Given the description of an element on the screen output the (x, y) to click on. 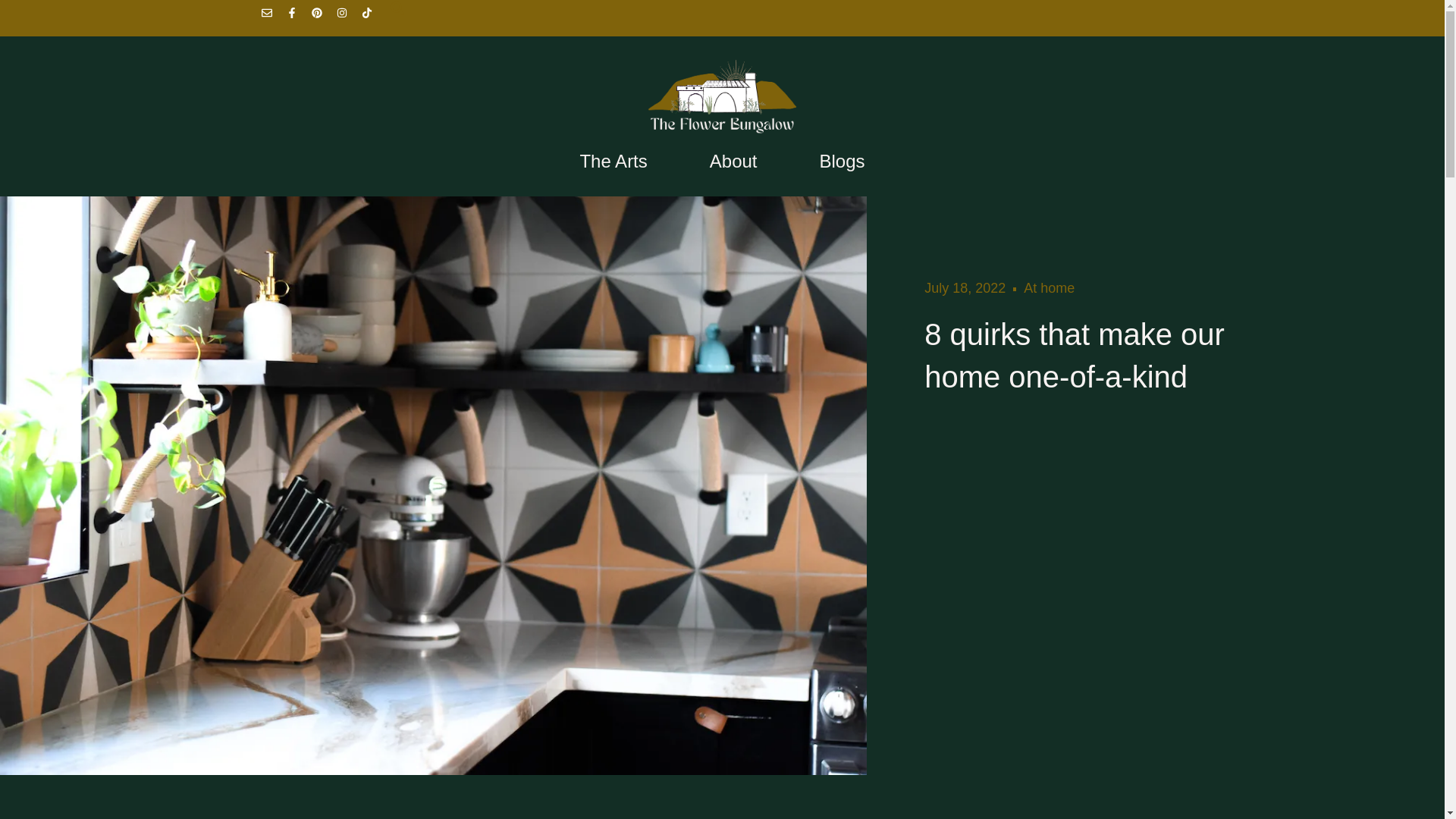
Blogs (842, 160)
Facebook-f (296, 17)
About (733, 160)
Instagram (347, 17)
At home (1048, 287)
Tiktok (371, 17)
July 18, 2022 (965, 288)
The Arts (613, 160)
Pinterest (322, 17)
Envelope (272, 17)
